Given the description of an element on the screen output the (x, y) to click on. 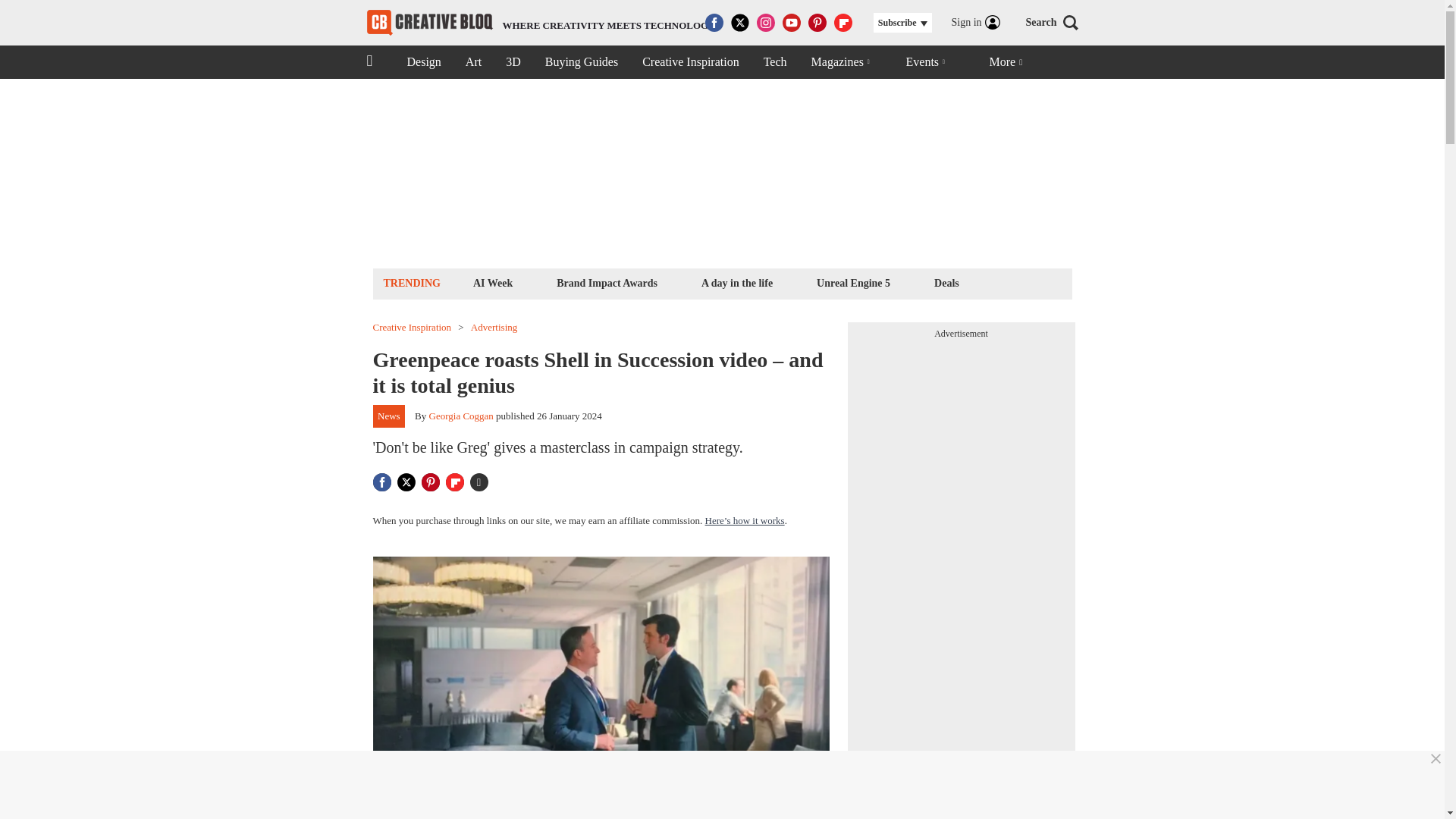
Buying Guides (581, 61)
Georgia Coggan (461, 415)
AI Week (492, 282)
Art (472, 61)
Advertising (493, 327)
Tech (775, 61)
Brand Impact Awards (541, 22)
Creative Inspiration (606, 282)
Deals (690, 61)
Unreal Engine 5 (945, 282)
Creative Bloq (852, 282)
